Given the description of an element on the screen output the (x, y) to click on. 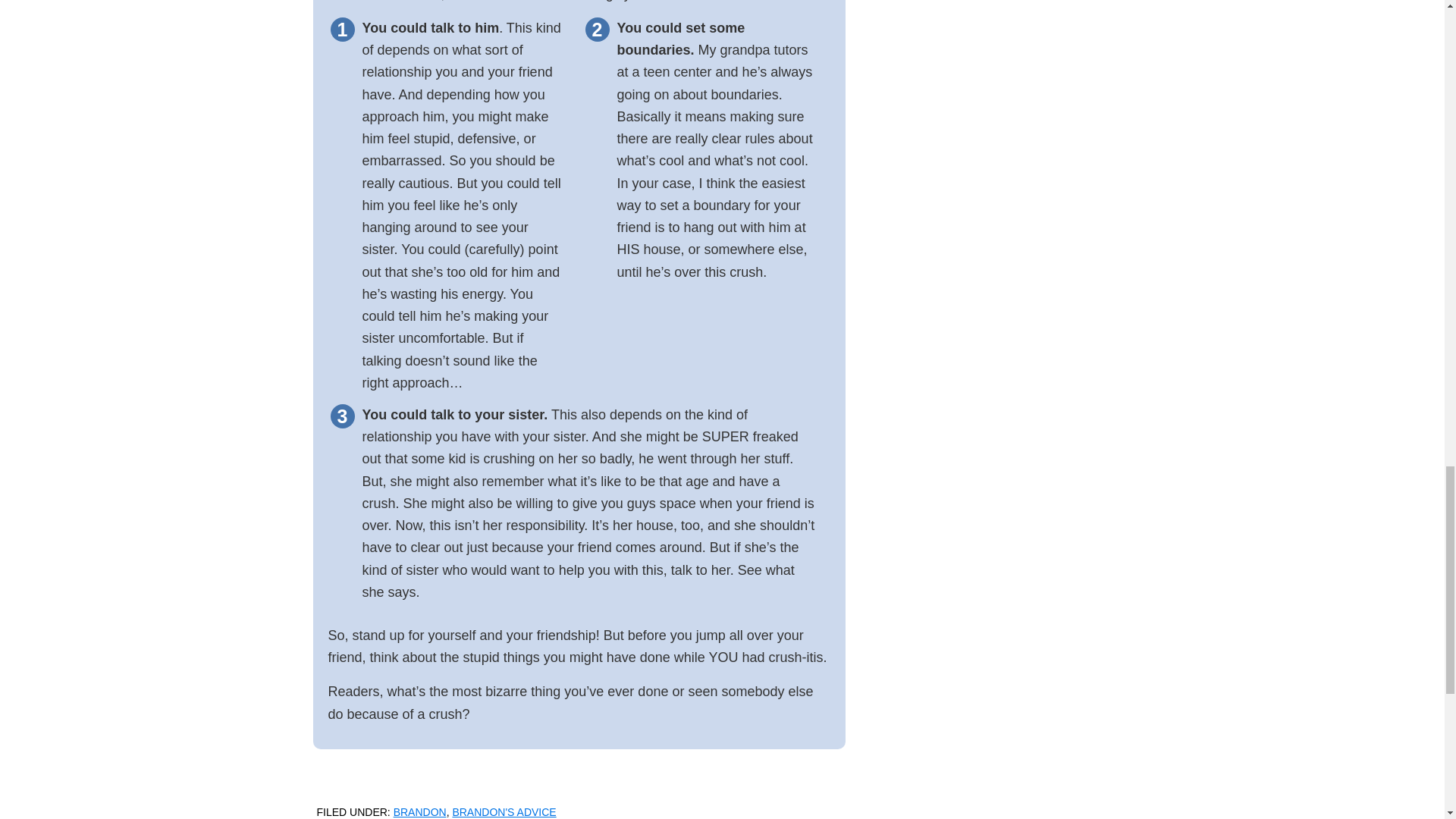
BRANDON'S ADVICE (503, 811)
BRANDON (419, 811)
